Given the description of an element on the screen output the (x, y) to click on. 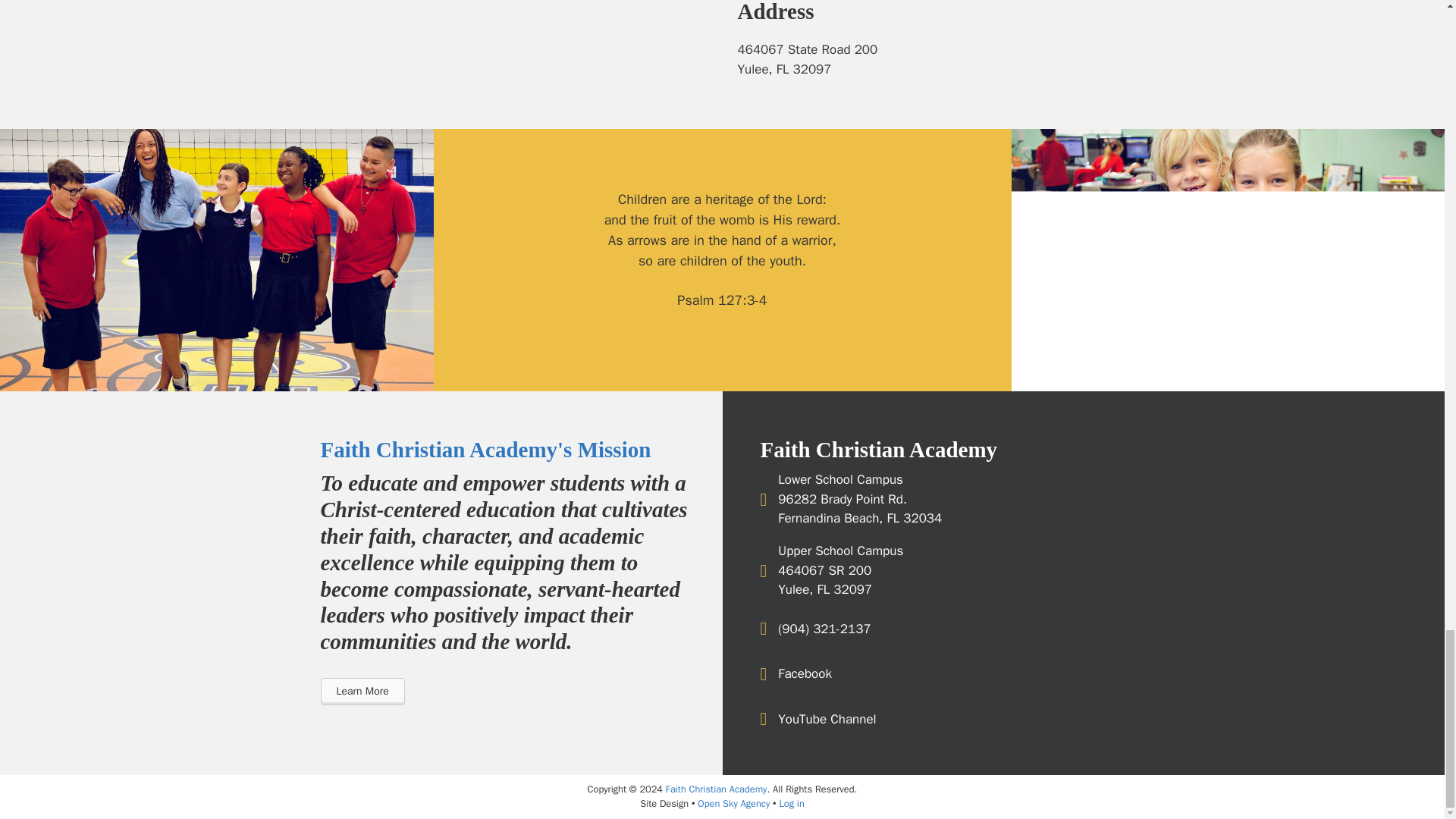
Faith Christian Academy's Mission (485, 449)
YouTube Channel (826, 719)
Learn More (362, 691)
Facebook (804, 673)
